Given the description of an element on the screen output the (x, y) to click on. 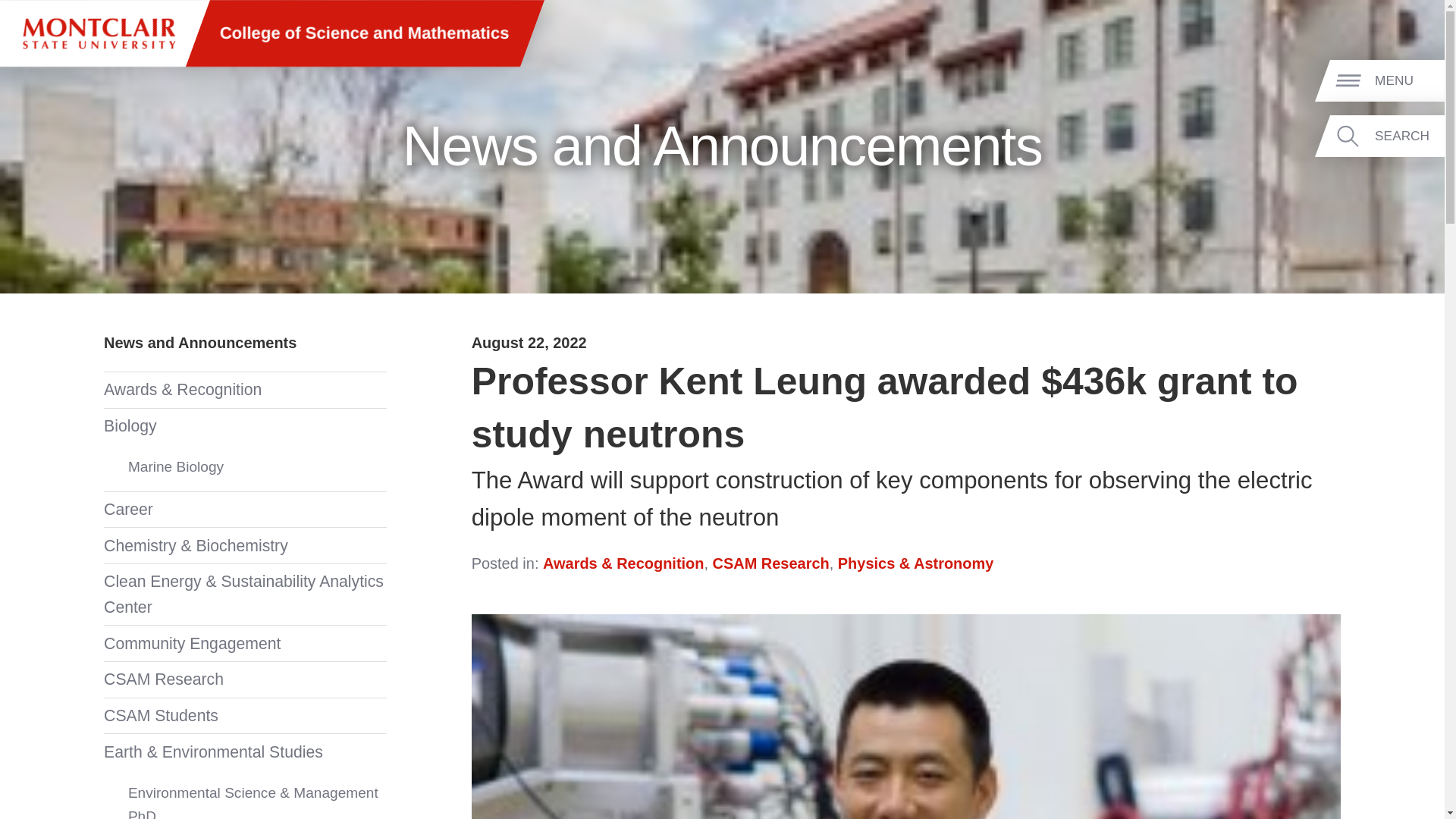
MENU (1406, 81)
SEARCH (1406, 135)
College of Science and Mathematics (364, 33)
